Given the description of an element on the screen output the (x, y) to click on. 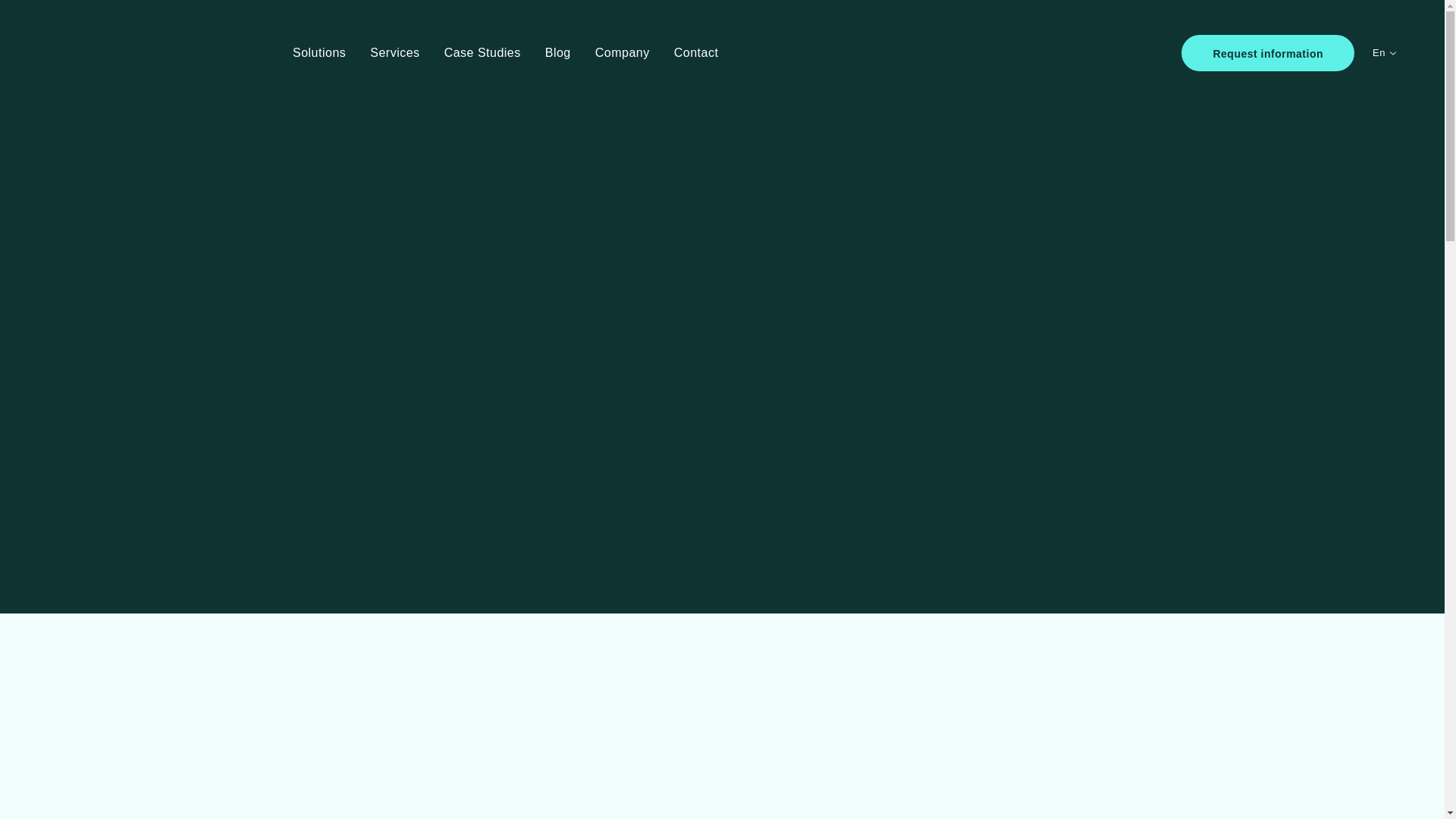
Services (394, 53)
Request information (1267, 53)
Solutions (319, 53)
Company (622, 53)
Blog (557, 53)
Contact (696, 53)
Case Studies (482, 53)
En (1384, 52)
